Given the description of an element on the screen output the (x, y) to click on. 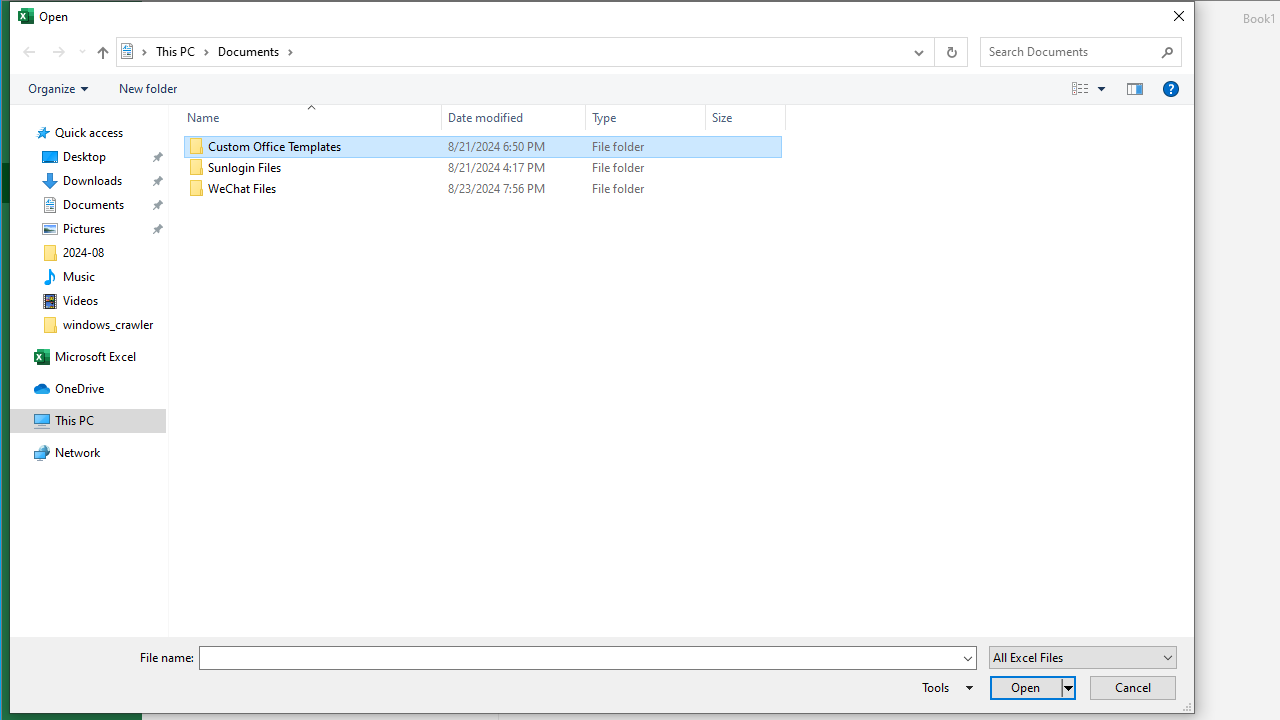
Class: UIImage (197, 188)
Type (646, 117)
